Given the description of an element on the screen output the (x, y) to click on. 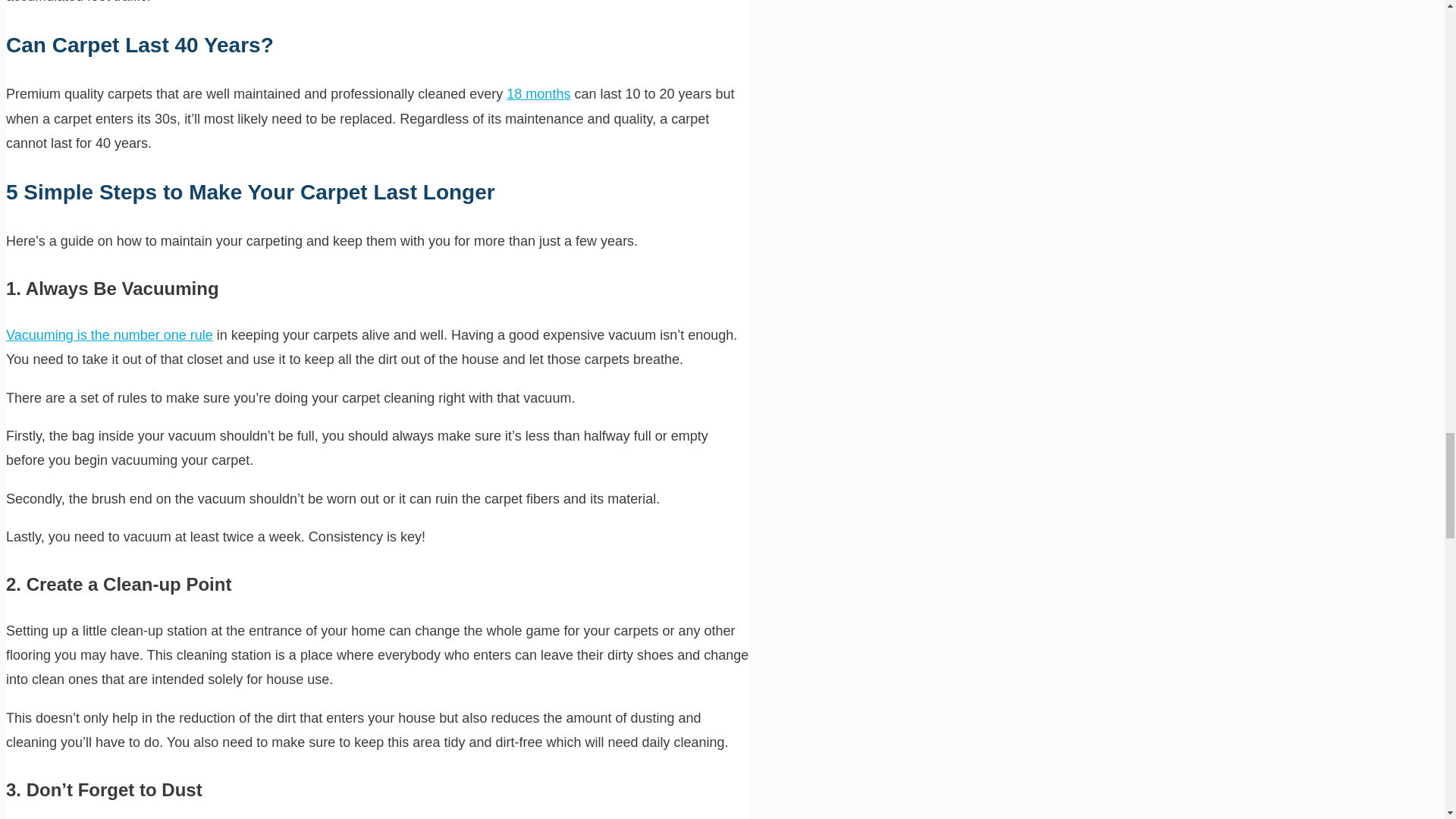
18 months (538, 93)
Vacuuming is the number one rule (108, 335)
